Given the description of an element on the screen output the (x, y) to click on. 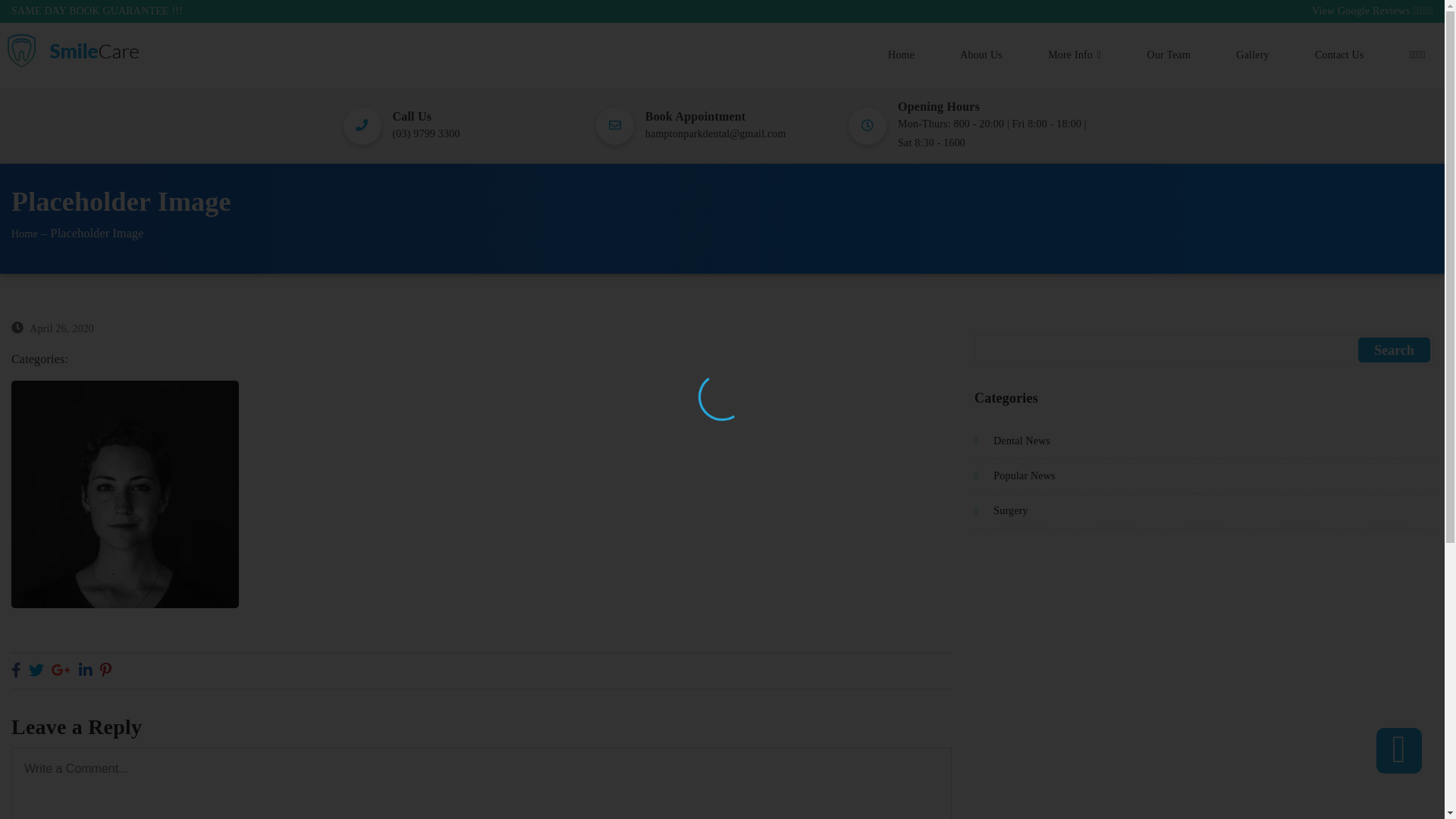
Home Element type: text (901, 54)
Popular News Element type: text (1203, 476)
About Us Element type: text (981, 54)
Surgery Element type: text (1203, 511)
April 26, 2020 Element type: text (61, 329)
Contact Us Element type: text (1339, 54)
Home Element type: text (24, 234)
Gallery Element type: text (1252, 54)
(03) 9799 3300 Element type: text (426, 133)
hamptonparkdental@gmail.com Element type: text (715, 133)
Our Team Element type: text (1168, 54)
Dental News Element type: text (1203, 441)
More Info Element type: text (1074, 54)
Search Element type: text (1394, 349)
